Given the description of an element on the screen output the (x, y) to click on. 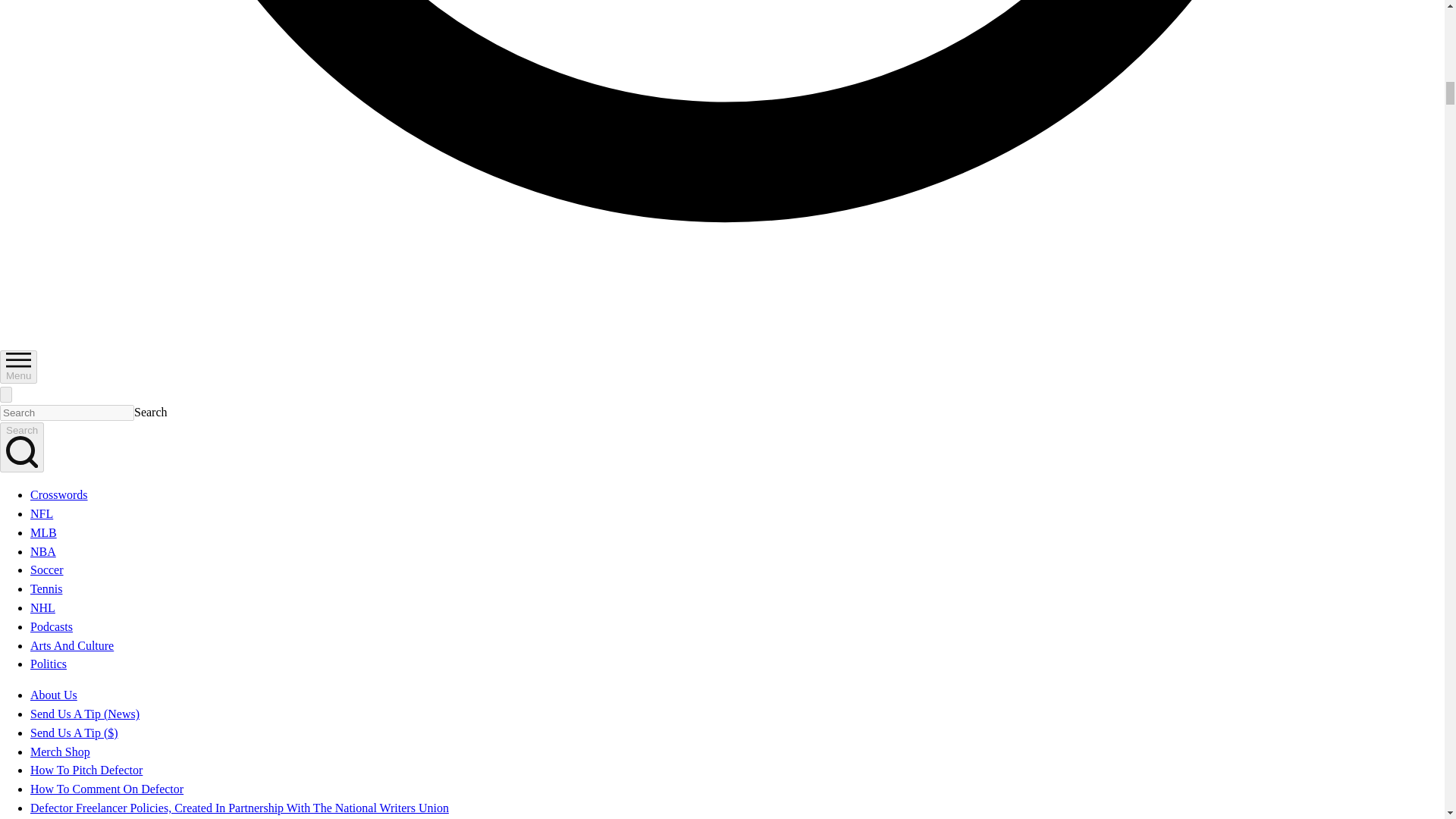
Merch Shop (60, 751)
NFL (41, 513)
Soccer (47, 569)
Politics (48, 663)
Crosswords (58, 494)
Menu (18, 366)
NHL (42, 607)
Tennis (46, 588)
Arts And Culture (71, 645)
Podcasts (51, 626)
NBA (43, 551)
MLB (43, 532)
About Us (53, 694)
How To Pitch Defector (86, 769)
